Given the description of an element on the screen output the (x, y) to click on. 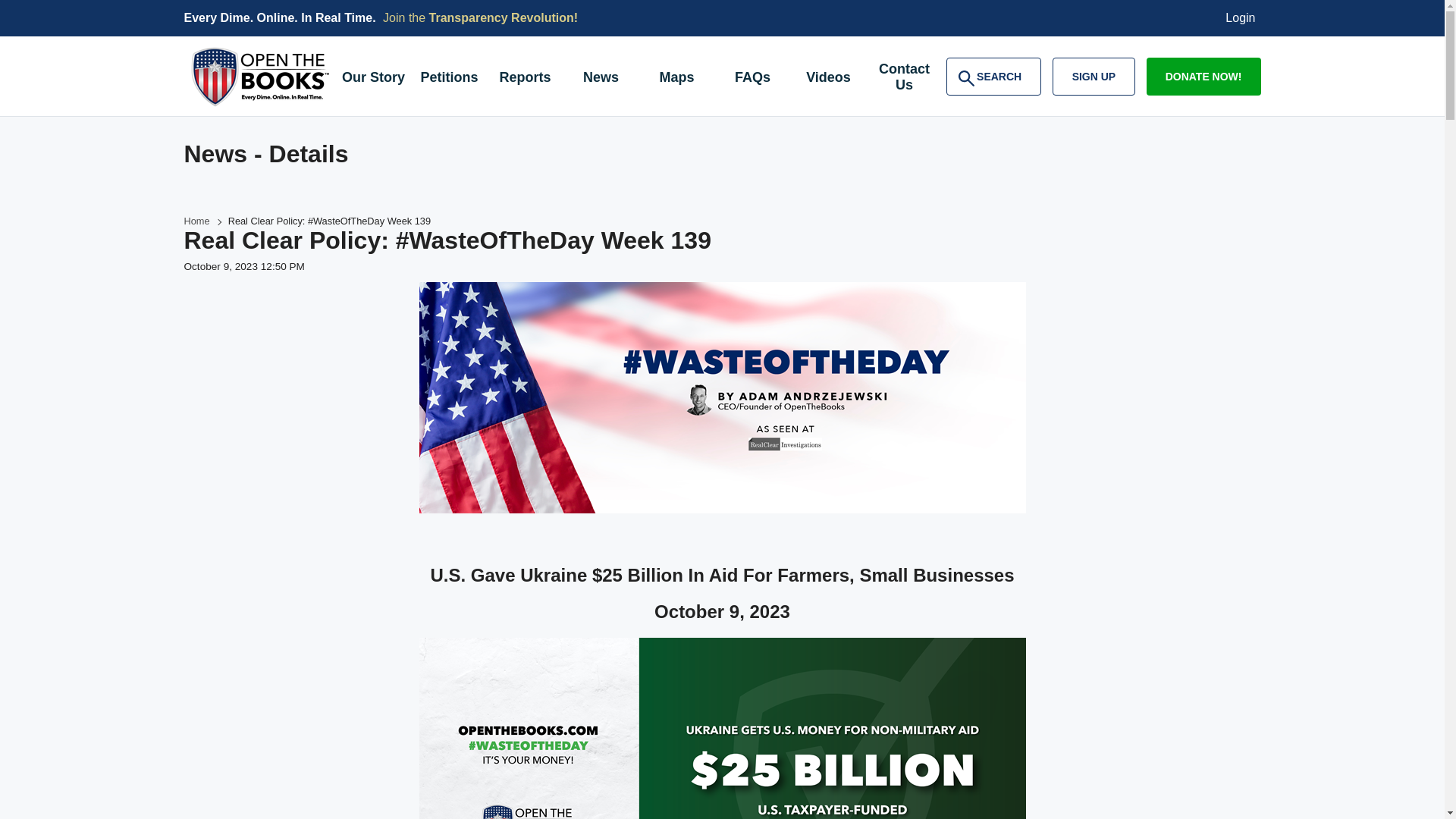
Videos (828, 78)
Transparency Revolution! (503, 17)
Contact Us (904, 78)
Maps (676, 78)
Our Story (372, 78)
DONATE NOW! (1203, 76)
Login (1240, 18)
Petitions (448, 78)
News (600, 78)
FAQs (752, 78)
Reports (524, 78)
SIGN UP (1093, 76)
Home (993, 76)
